Given the description of an element on the screen output the (x, y) to click on. 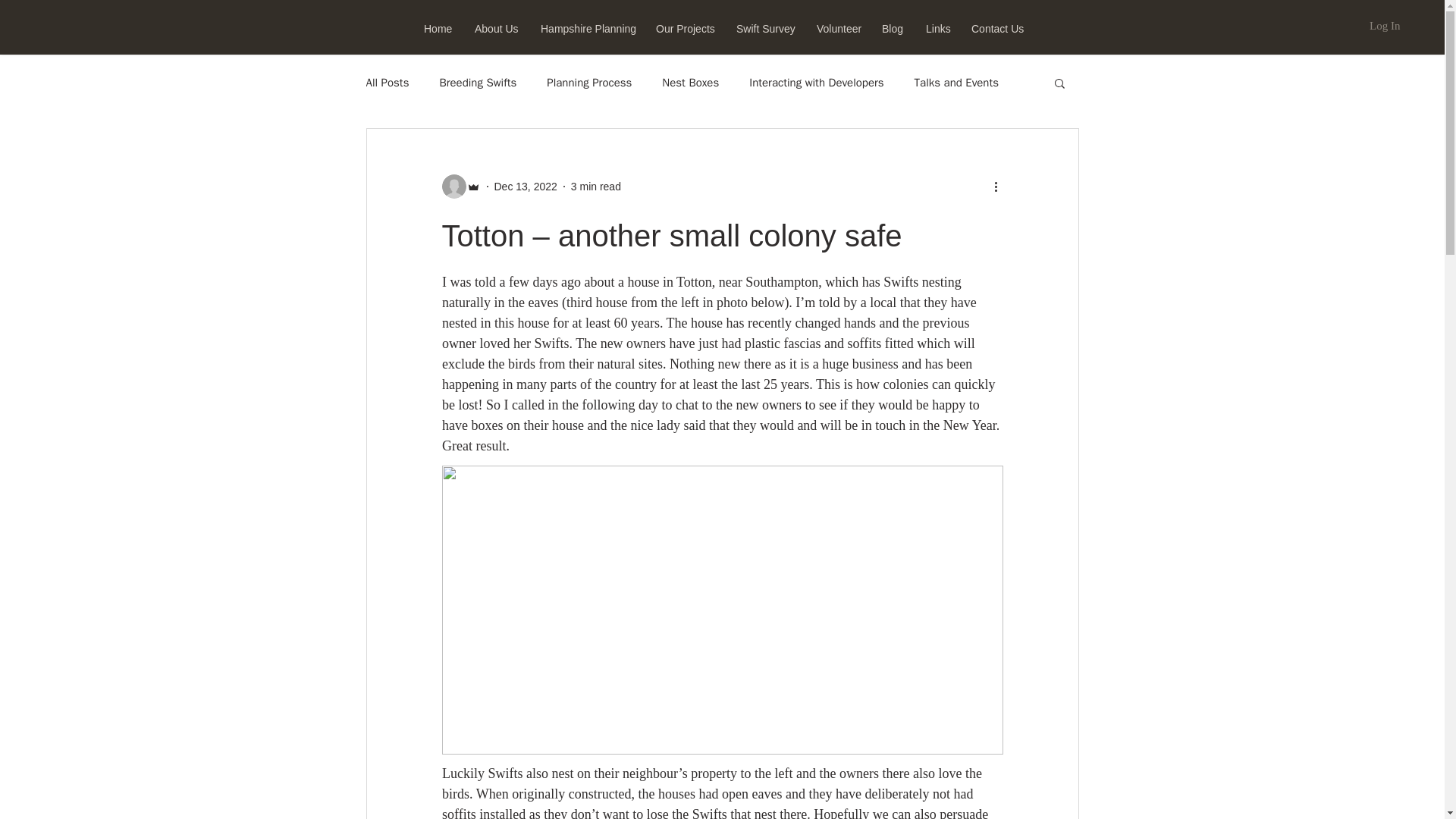
Interacting with Developers (816, 83)
Log In (1384, 25)
Planning Process (589, 83)
Contact Us (995, 28)
Home (437, 28)
Hampshire Planning (585, 28)
Nest Boxes (690, 83)
Breeding Swifts (477, 83)
Dec 13, 2022 (526, 186)
Volunteer (837, 28)
